Given the description of an element on the screen output the (x, y) to click on. 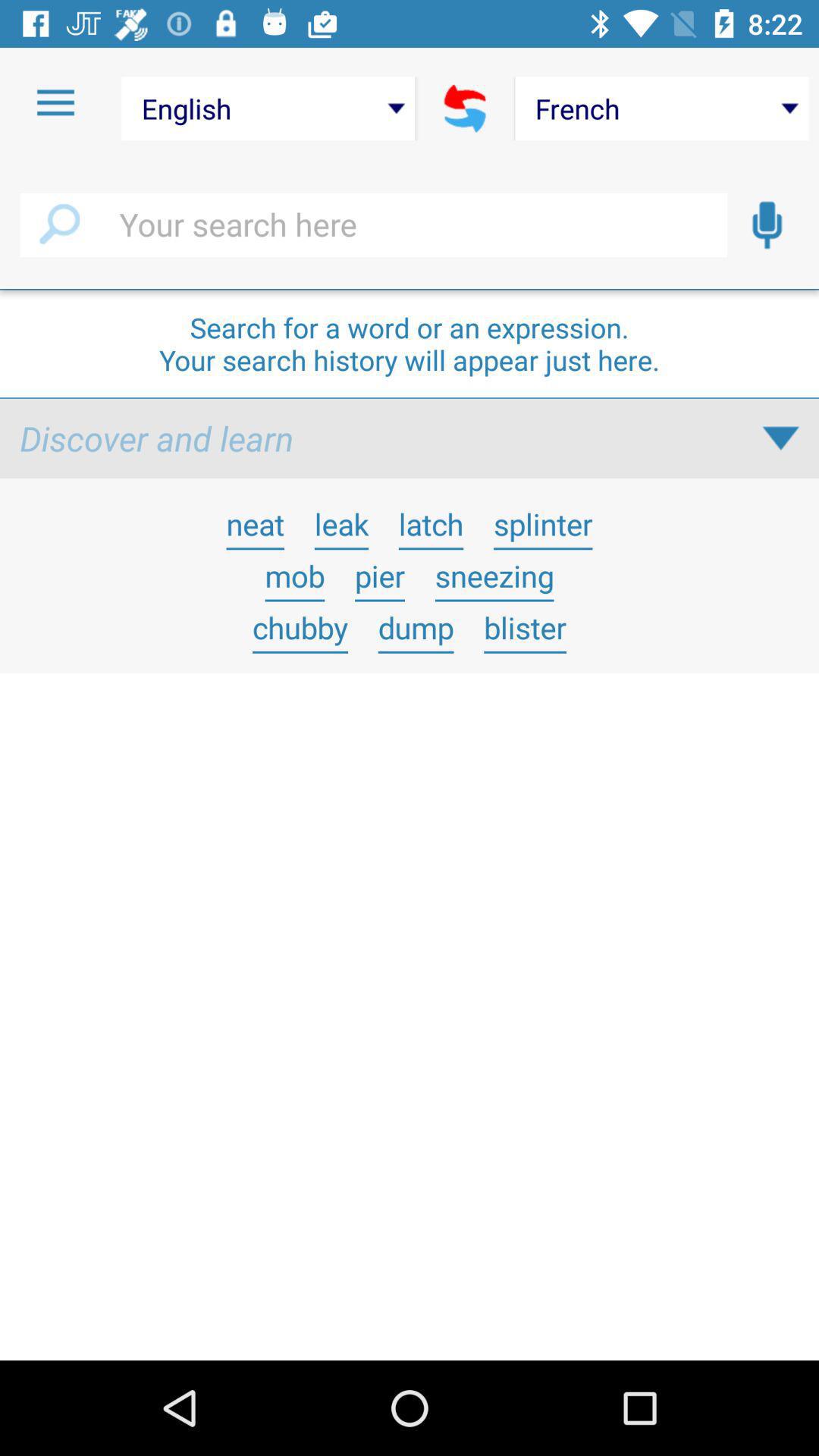
open microphone (767, 225)
